Given the description of an element on the screen output the (x, y) to click on. 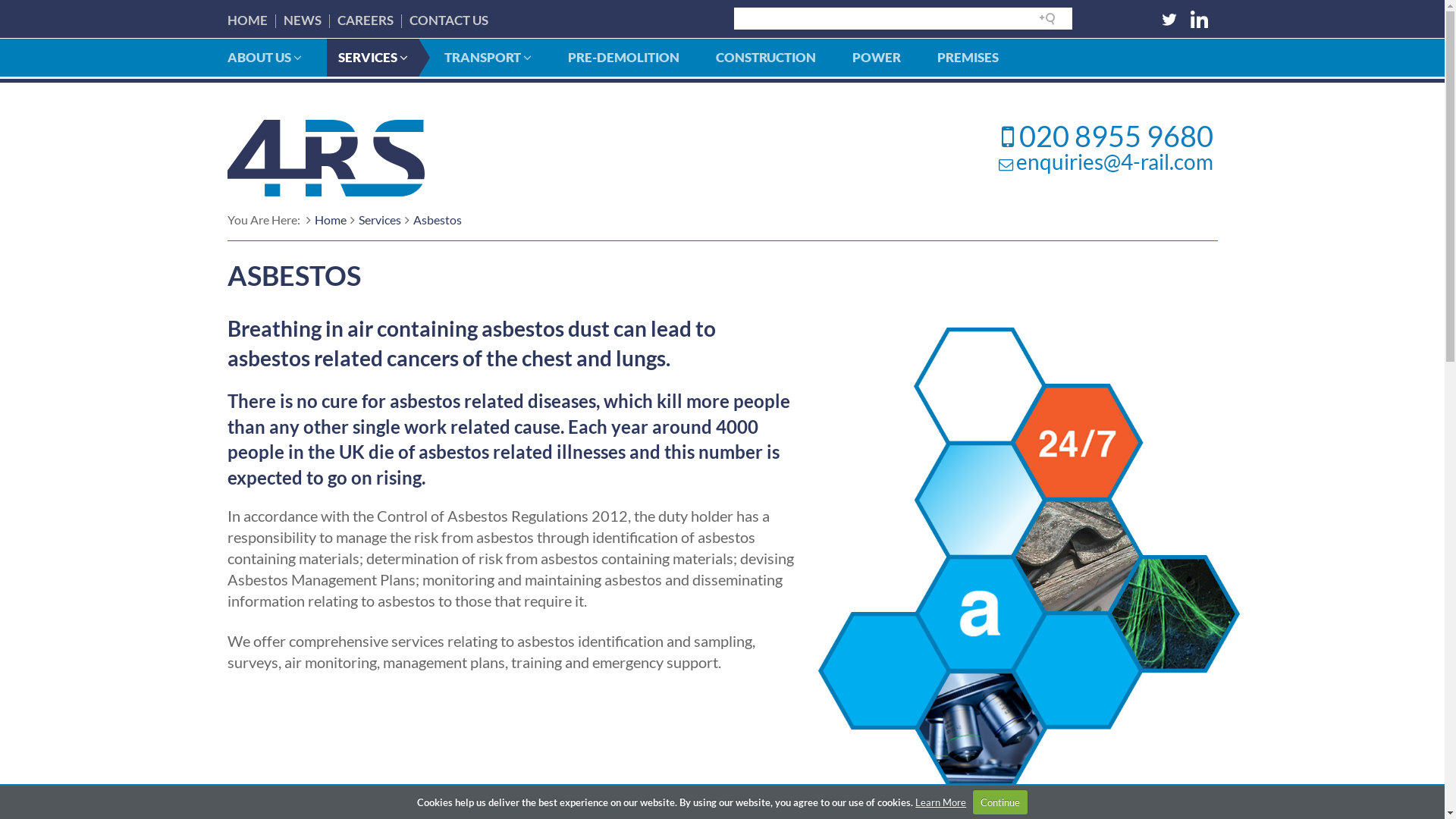
CONTACT US Element type: text (448, 20)
Continue Element type: text (999, 801)
CONSTRUCTION Element type: text (764, 57)
NEWS Element type: text (302, 20)
CAREERS Element type: text (364, 20)
PRE-DEMOLITION Element type: text (623, 57)
Asbestos Element type: text (436, 219)
Home Element type: text (329, 219)
TRANSPORT  Element type: text (487, 57)
HOME Element type: text (247, 20)
PREMISES Element type: text (967, 57)
ABOUT US  Element type: text (263, 57)
enquiries@4-rail.com Element type: text (1114, 161)
Services Element type: text (378, 219)
POWER Element type: text (875, 57)
Learn More Element type: text (940, 802)
SERVICES  Element type: text (372, 57)
